Given the description of an element on the screen output the (x, y) to click on. 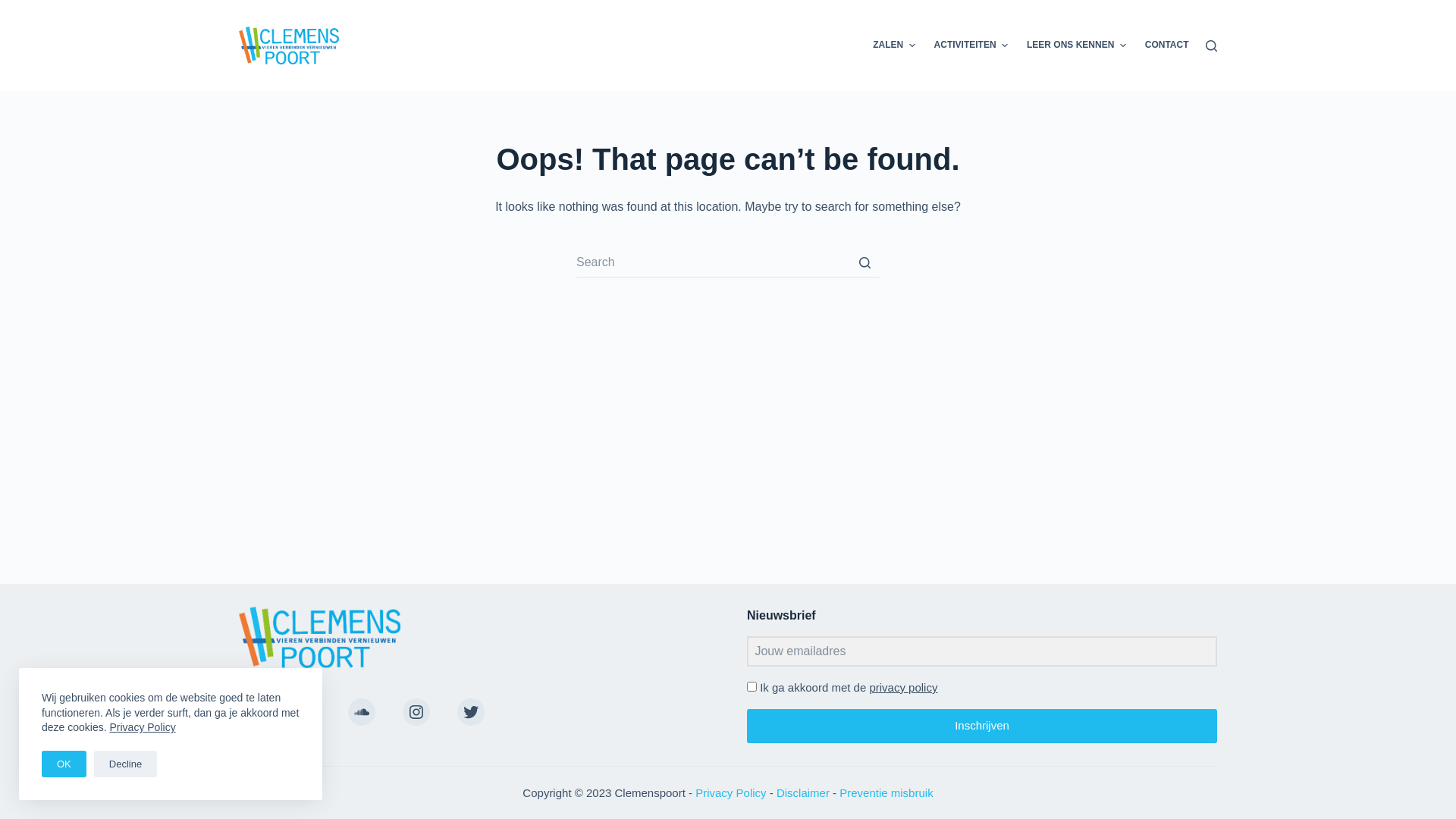
Disclaimer Element type: text (802, 791)
Facebook Element type: text (306, 711)
Twitter Element type: text (470, 711)
OK Element type: text (63, 763)
LEER ONS KENNEN Element type: text (1075, 45)
Instagram Element type: text (415, 711)
Inschrijven Element type: text (981, 726)
Privacy Policy Element type: text (730, 791)
Soundcloud Element type: text (361, 711)
ACTIVITEITEN Element type: text (970, 45)
ZALEN Element type: text (893, 45)
CONTACT Element type: text (1166, 45)
Decline Element type: text (125, 763)
privacy policy Element type: text (903, 686)
Privacy Policy Element type: text (142, 727)
Skip to content Element type: text (15, 7)
Search for... Element type: hover (727, 262)
YouTube Element type: text (252, 711)
Preventie misbruik Element type: text (885, 791)
